Given the description of an element on the screen output the (x, y) to click on. 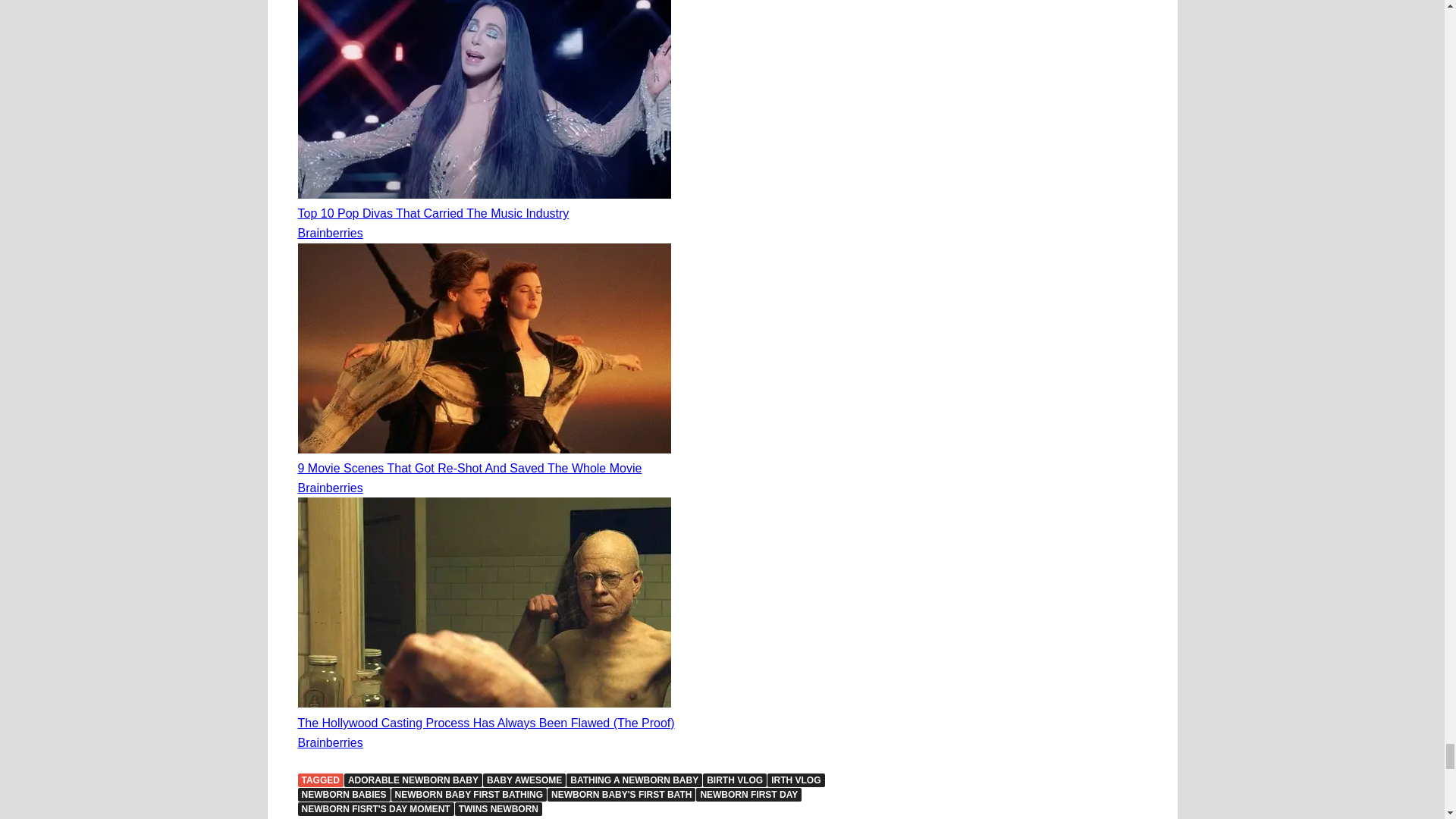
IRTH VLOG (795, 780)
NEWBORN FIRST DAY (748, 794)
BIRTH VLOG (735, 780)
BABY AWESOME (524, 780)
NEWBORN BABY'S FIRST BATH (621, 794)
NEWBORN BABIES (343, 794)
ADORABLE NEWBORN BABY (412, 780)
TWINS NEWBORN (497, 808)
NEWBORN FISRT'S DAY MOMENT (374, 808)
BATHING A NEWBORN BABY (633, 780)
NEWBORN BABY FIRST BATHING (469, 794)
